Given the description of an element on the screen output the (x, y) to click on. 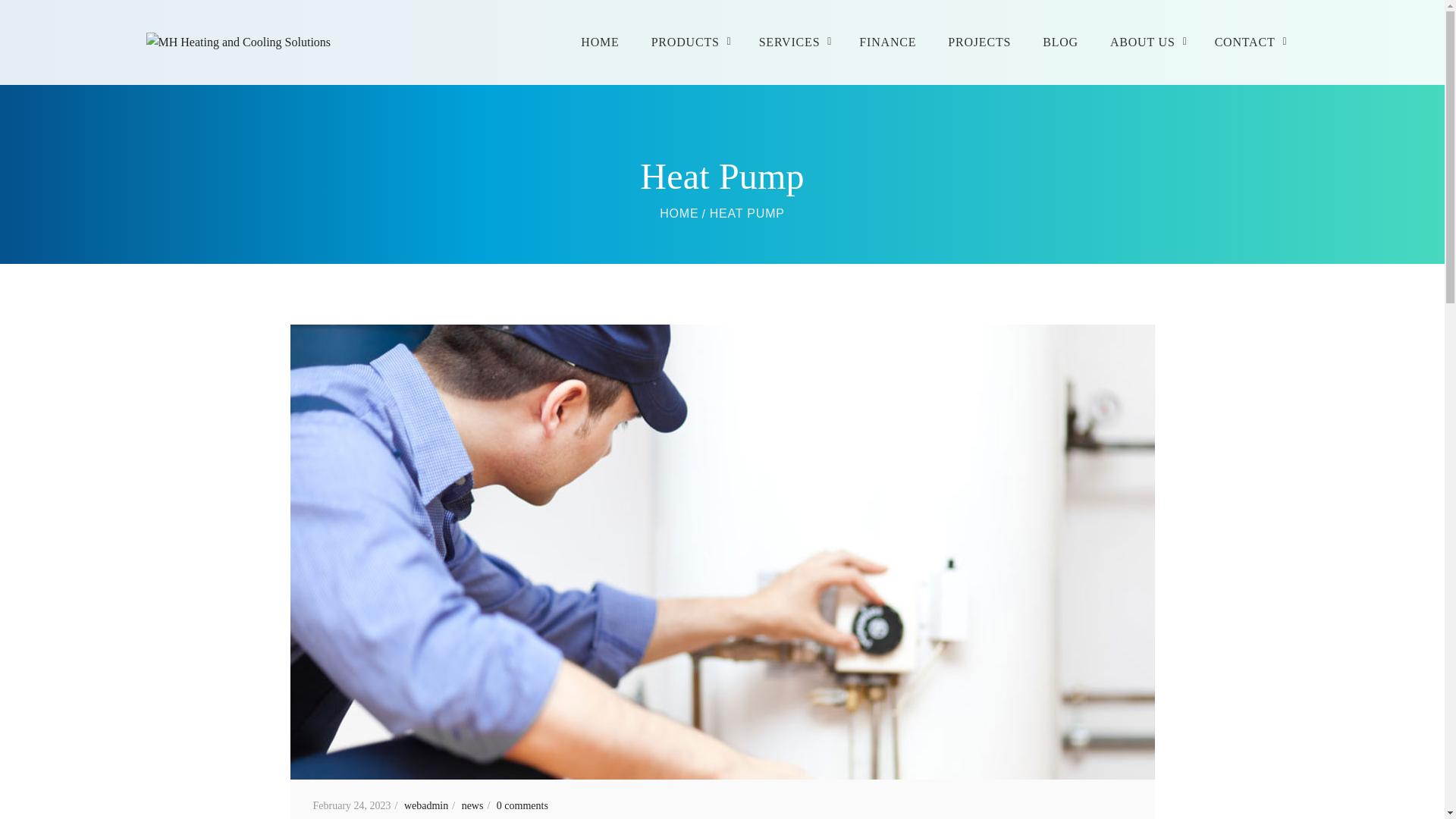
ABOUT US (1146, 41)
PRODUCTS (689, 41)
news (478, 805)
SERVICES (793, 41)
BLOG (1060, 41)
MH Heating and Cooling Solutions (678, 213)
FINANCE (887, 41)
webadmin (431, 805)
0 comments (522, 805)
PROJECTS (979, 41)
CONTACT (1248, 41)
HOME (678, 213)
HOME (599, 41)
